Given the description of an element on the screen output the (x, y) to click on. 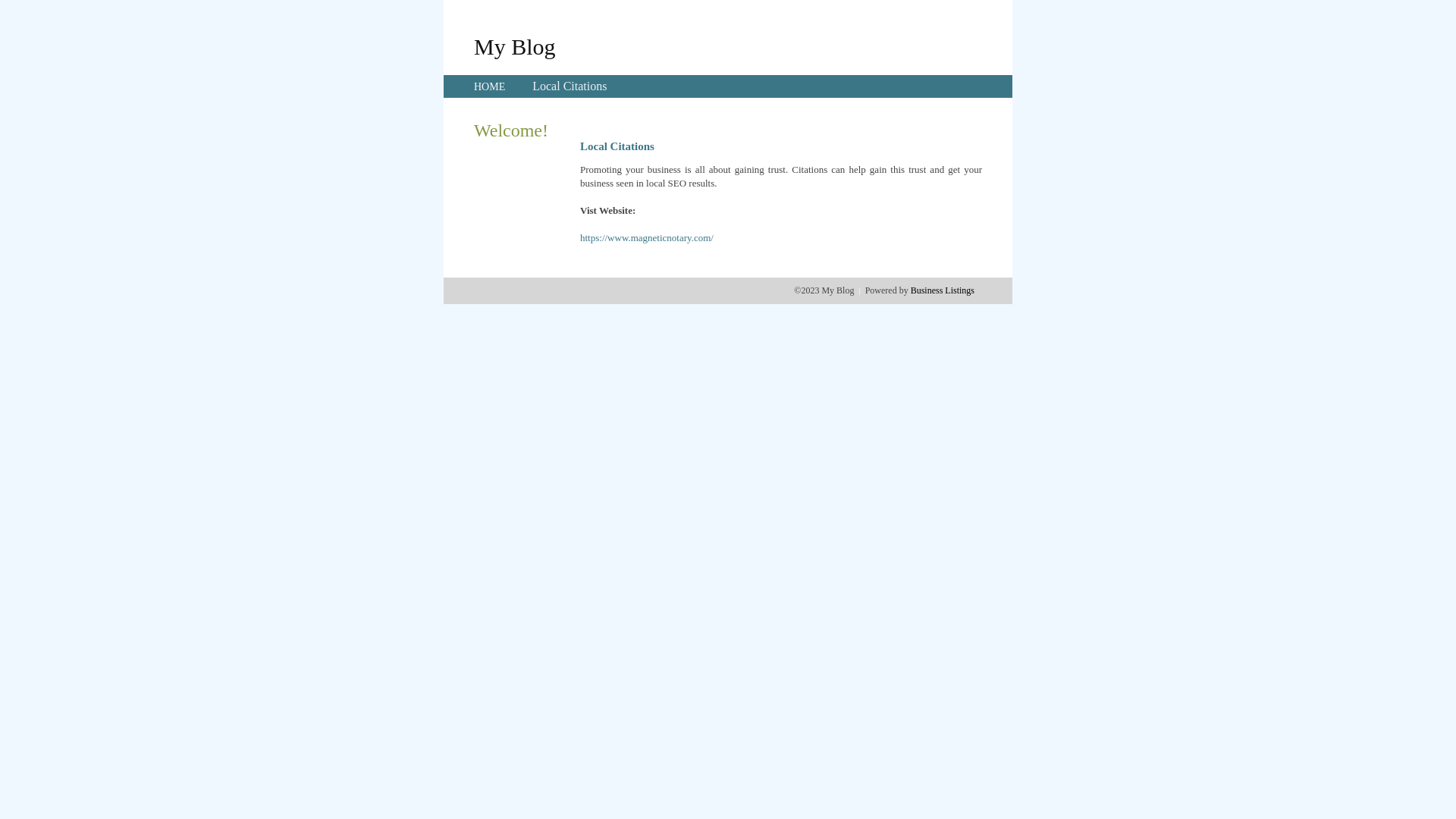
My Blog Element type: text (514, 46)
HOME Element type: text (489, 86)
Local Citations Element type: text (569, 85)
Business Listings Element type: text (942, 290)
https://www.magneticnotary.com/ Element type: text (646, 237)
